Given the description of an element on the screen output the (x, y) to click on. 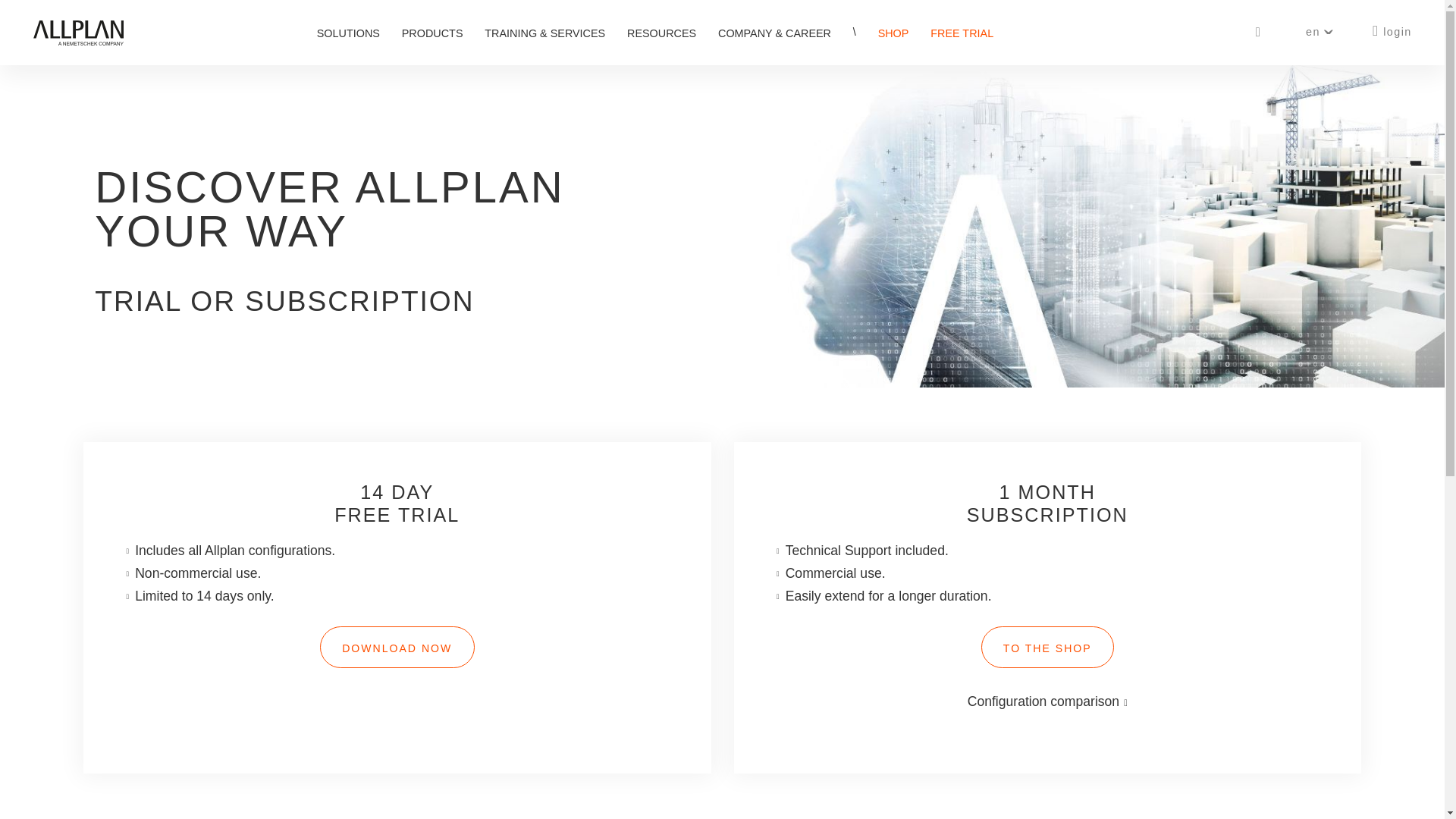
PRODUCTS (432, 36)
SOLUTIONS (348, 36)
Home (77, 41)
